Given the description of an element on the screen output the (x, y) to click on. 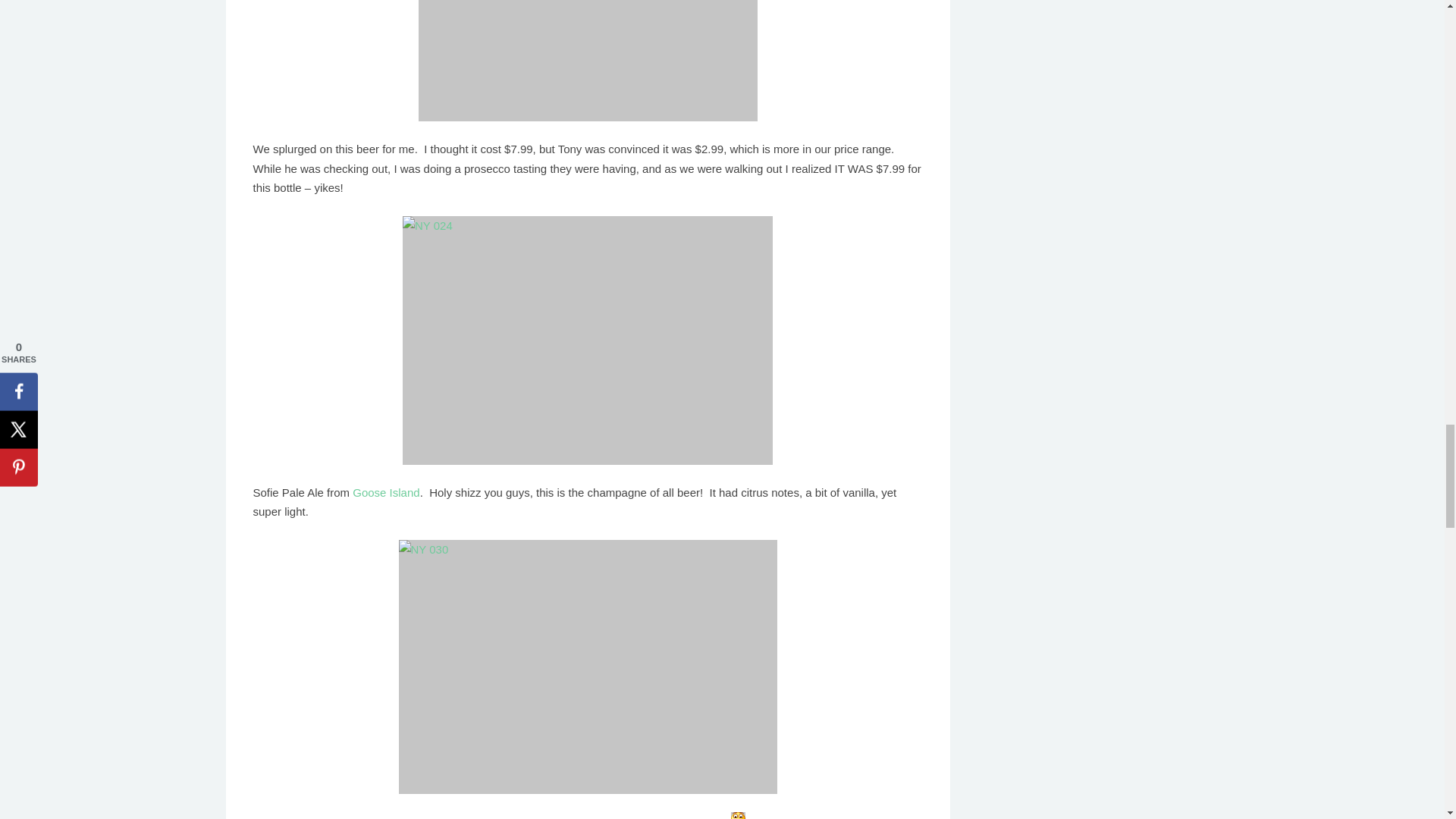
NY 024 (588, 340)
NY 030 (587, 666)
NY 014 (588, 60)
